Given the description of an element on the screen output the (x, y) to click on. 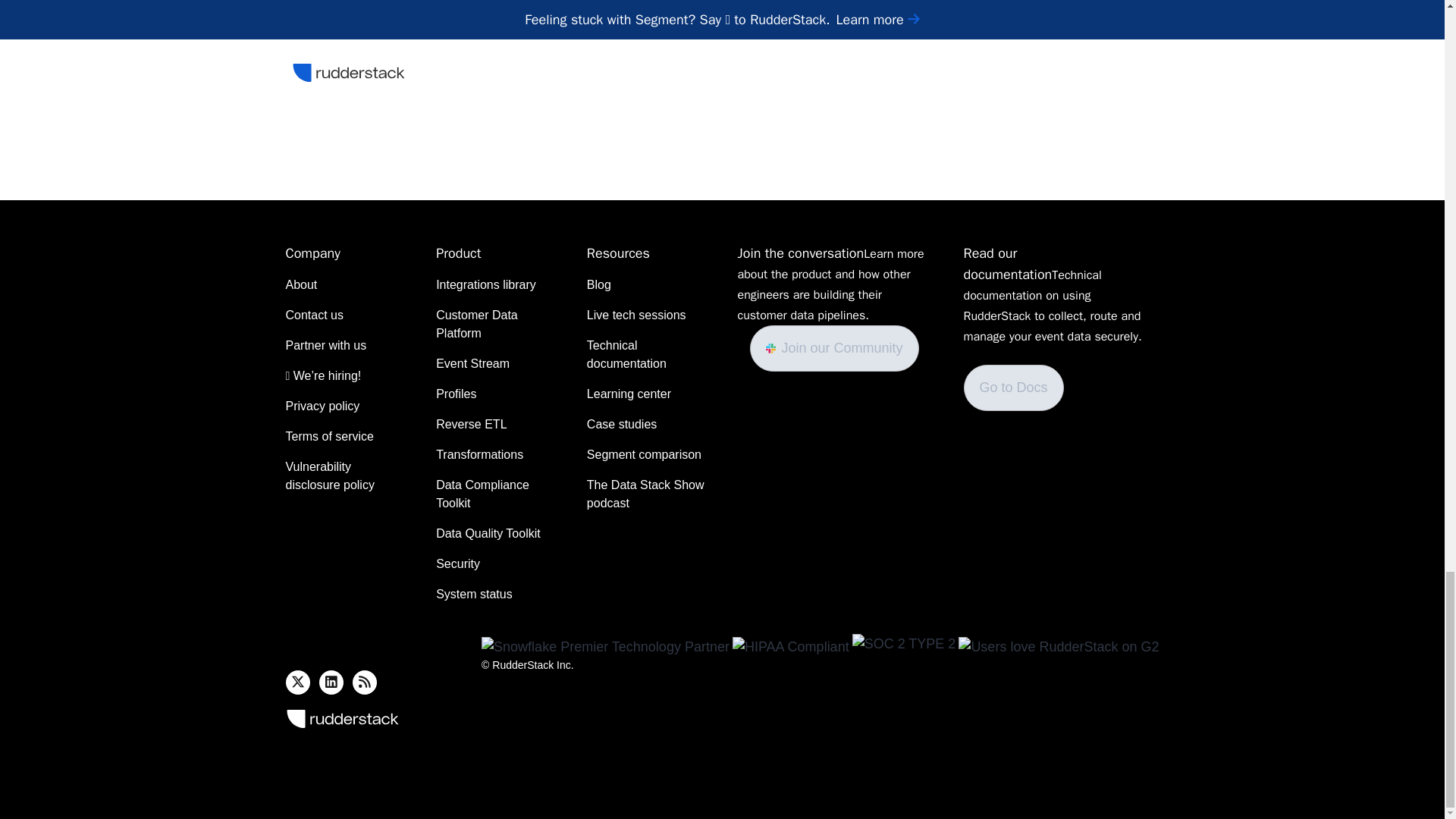
Terms of service (328, 436)
Contact us (313, 315)
About (301, 285)
Partner with us (325, 345)
Privacy policy (322, 406)
